Given the description of an element on the screen output the (x, y) to click on. 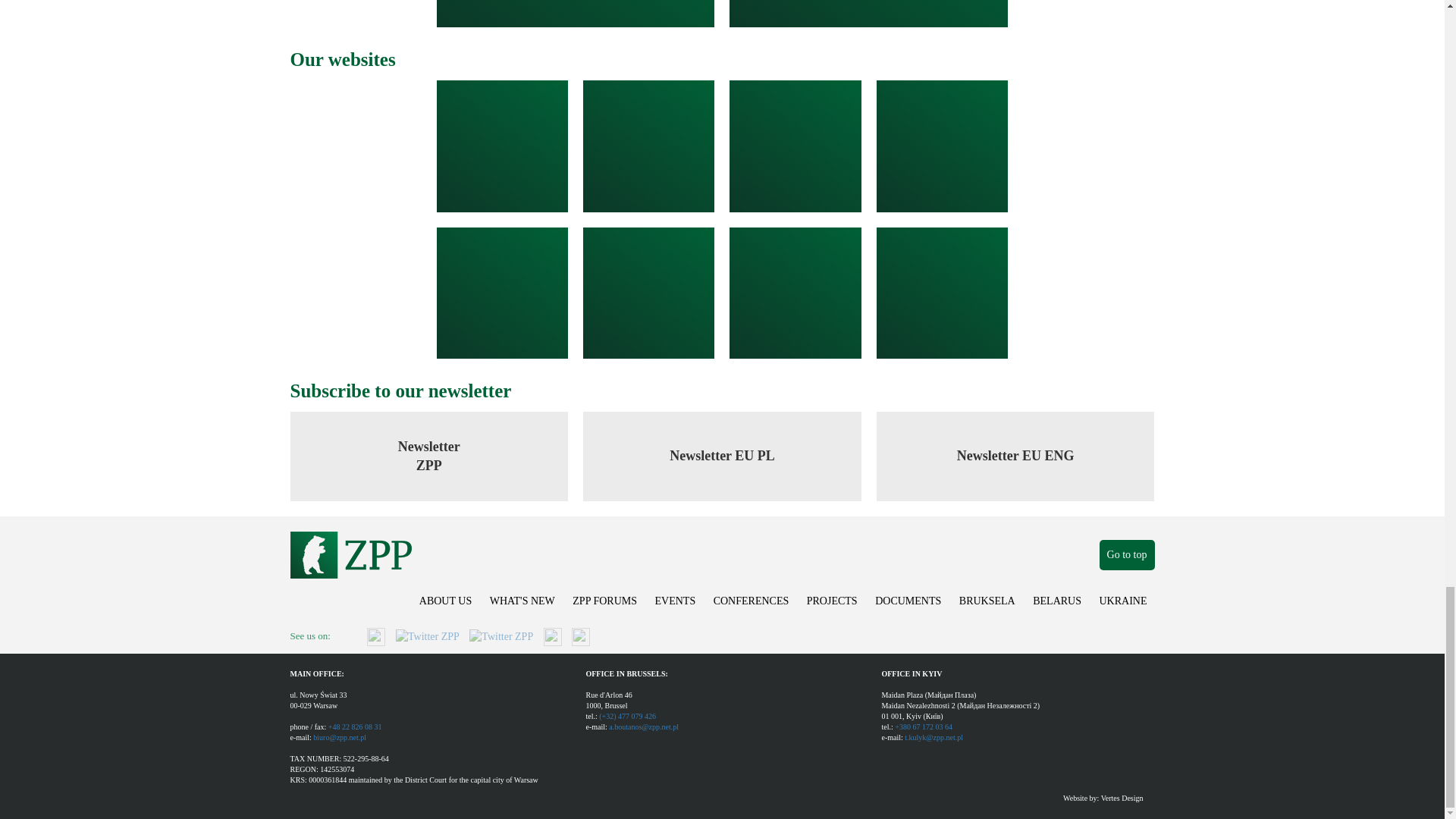
Profil ZPP na YouTube (580, 635)
Profil ZPP na Twitterze (428, 635)
Profil ZPP EU na Twitterze (500, 635)
Profil ZPP na Facebooku (375, 635)
strony internetowe Warszawa (1121, 797)
